Given the description of an element on the screen output the (x, y) to click on. 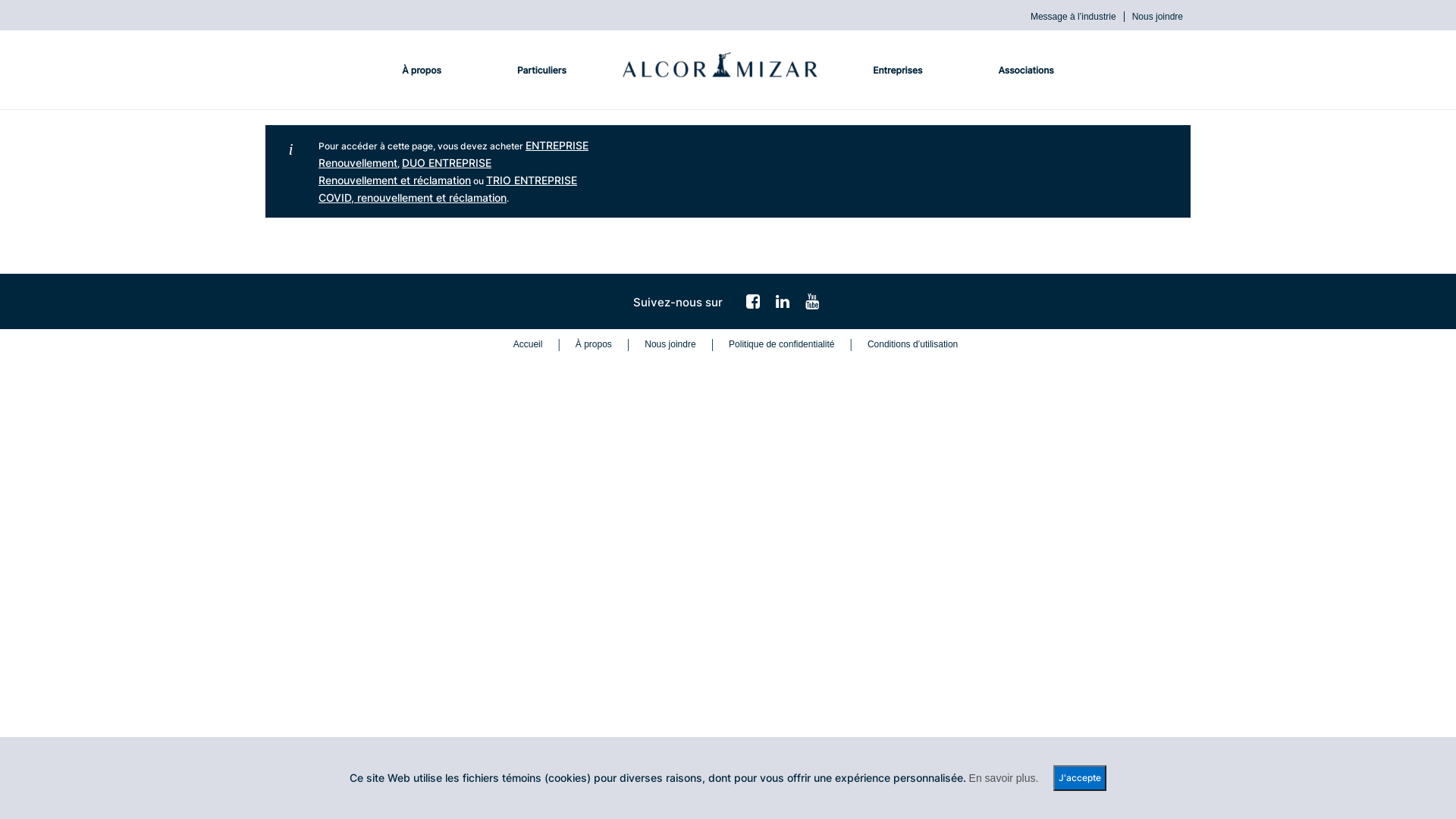
Associations Element type: text (1025, 69)
Nous joindre Element type: text (1153, 16)
J'accepte Element type: text (1079, 777)
Nous joindre Element type: text (661, 343)
Entreprises Element type: text (897, 69)
Accueil Element type: text (520, 343)
ENTREPRISE
Renouvellement Element type: text (453, 153)
Particuliers Element type: text (541, 69)
En savoir plus. Element type: text (1003, 777)
